Given the description of an element on the screen output the (x, y) to click on. 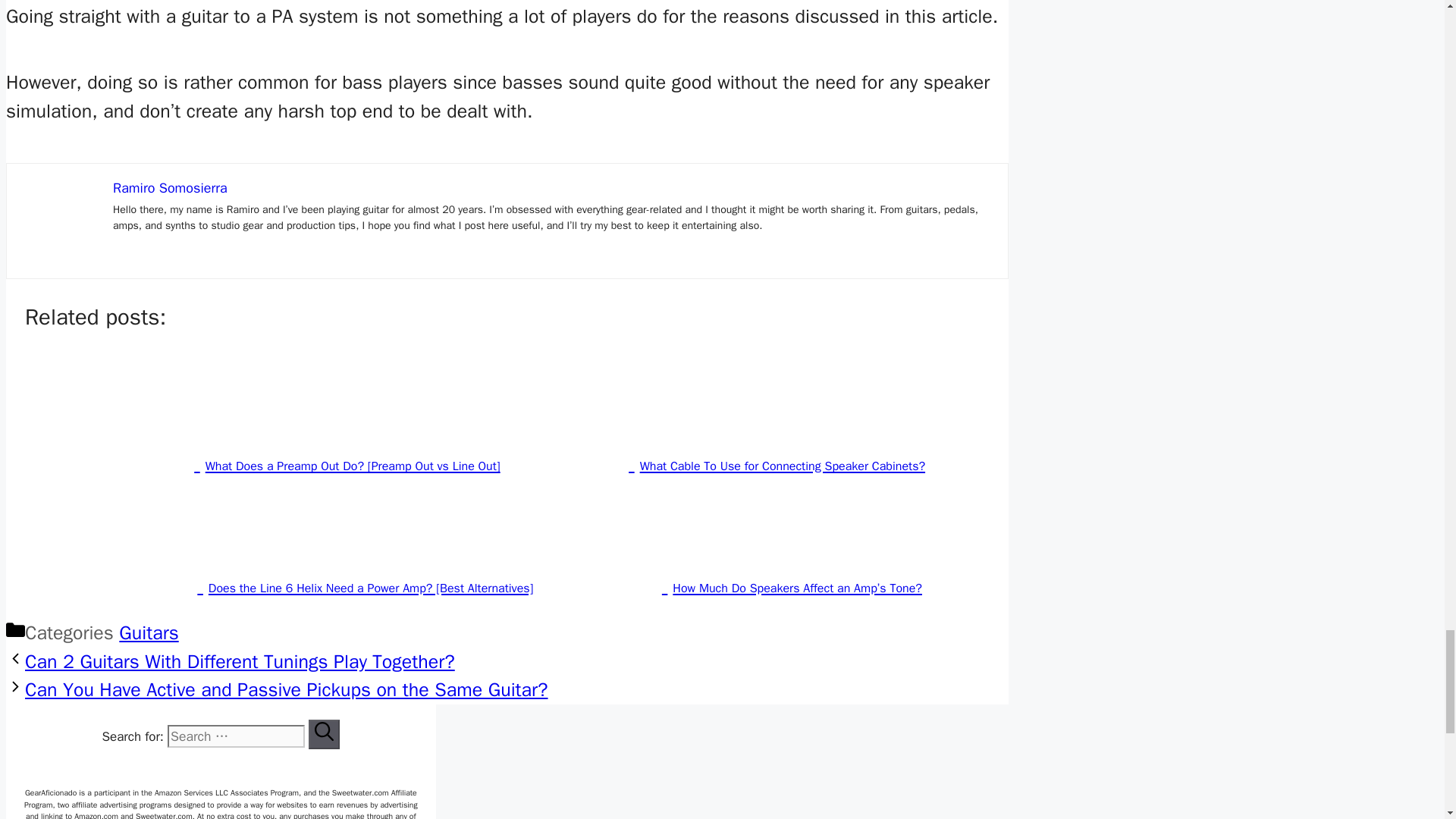
Search for: (235, 735)
Can You Have Active and Passive Pickups on the Same Guitar? (286, 689)
What Cable To Use for Connecting Speaker Cabinets? (722, 463)
Ramiro Somosierra (170, 187)
Guitars (148, 632)
What Cable To Use for Connecting Speaker Cabinets? (722, 463)
Can 2 Guitars With Different Tunings Play Together? (239, 661)
